Given the description of an element on the screen output the (x, y) to click on. 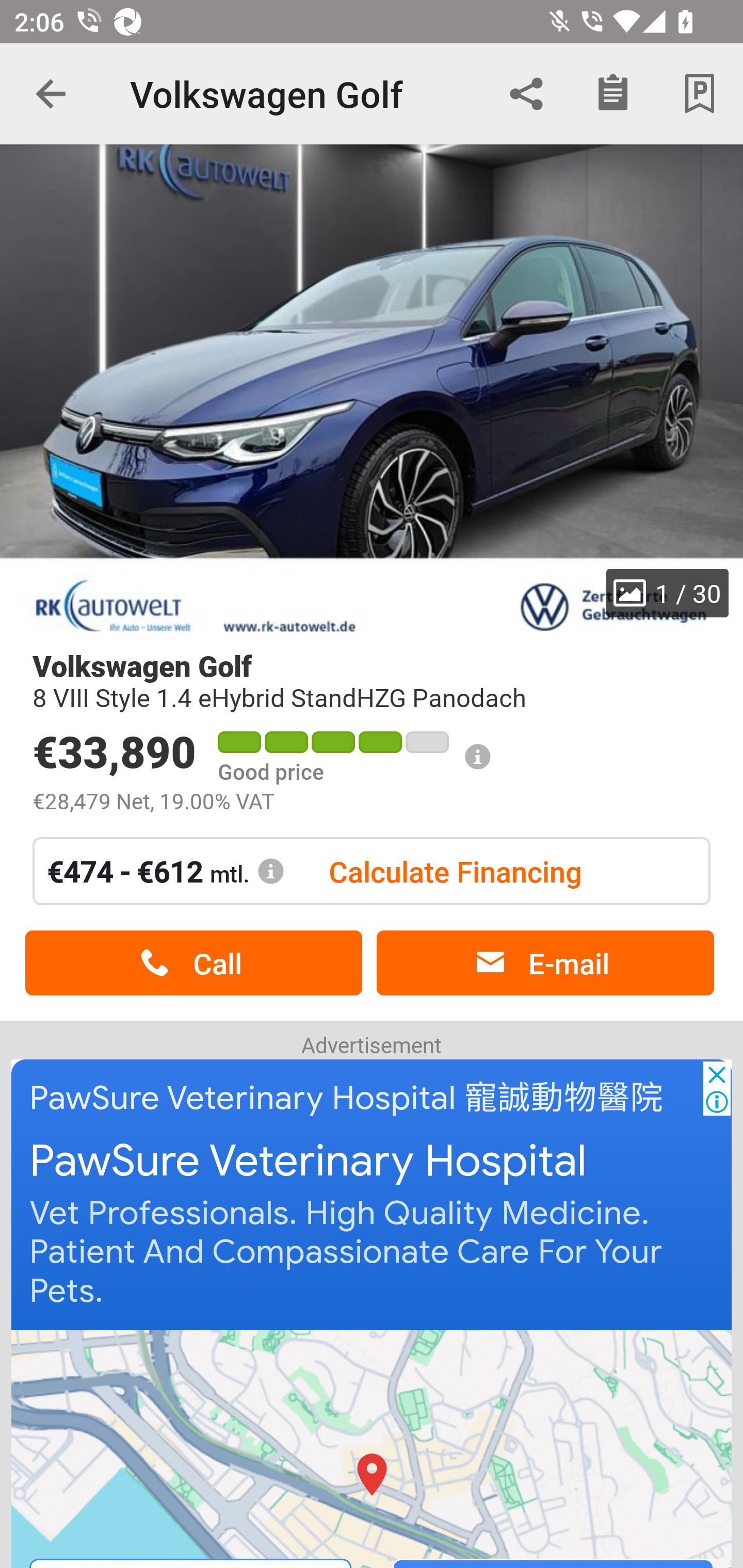
Navigate up (50, 93)
Share via (525, 93)
Checklist (612, 93)
Park (699, 93)
Calculate Financing (454, 870)
€474 - €612 mtl. (165, 870)
Call (193, 963)
E-mail (545, 963)
PawSure Veterinary Hospital 寵誠動物醫院 (346, 1097)
PawSure Veterinary Hospital (307, 1161)
Directions Call (372, 1448)
